Given the description of an element on the screen output the (x, y) to click on. 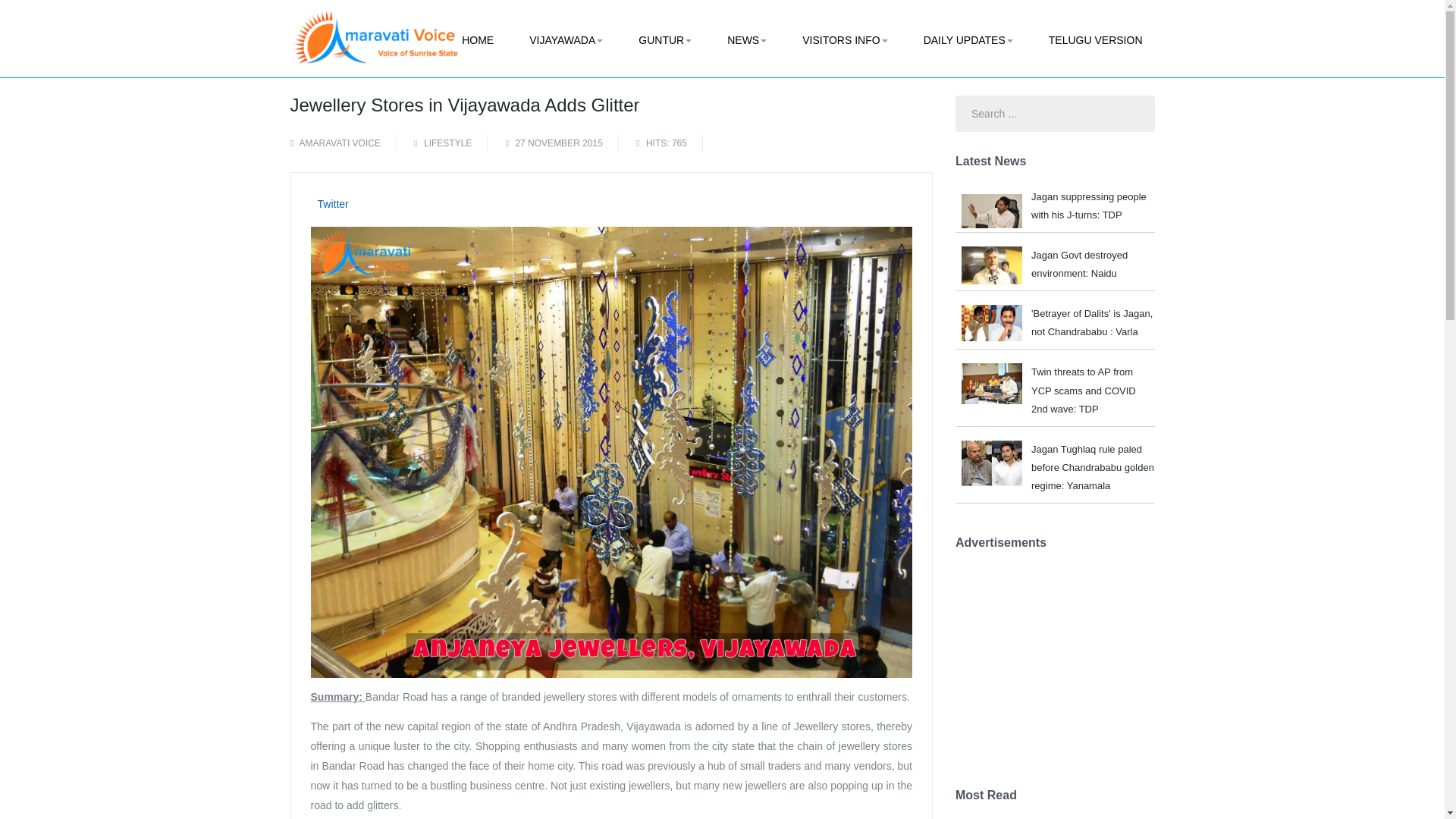
GUNTUR (664, 40)
Advertisement (1068, 664)
Jewellery Stores in Vijayawada Adds Glitter (464, 105)
'Betrayer of Dalits' is Jagan, not Chandrababu : Varla (1092, 319)
Jewellery Stores in Vijayawada Adds Glitter (464, 105)
DAILY UPDATES (968, 40)
Jagan suppressing people with his J-turns: TDP (1092, 206)
VISITORS INFO (844, 40)
Twin threats to AP from YCP scams and COVID 2nd wave: TDP (1092, 387)
TELUGU VERSION (1095, 40)
Jagan Govt destroyed environment: Naidu (1092, 261)
NEWS (746, 40)
Twitter (332, 203)
Amaravativoice (375, 26)
